Given the description of an element on the screen output the (x, y) to click on. 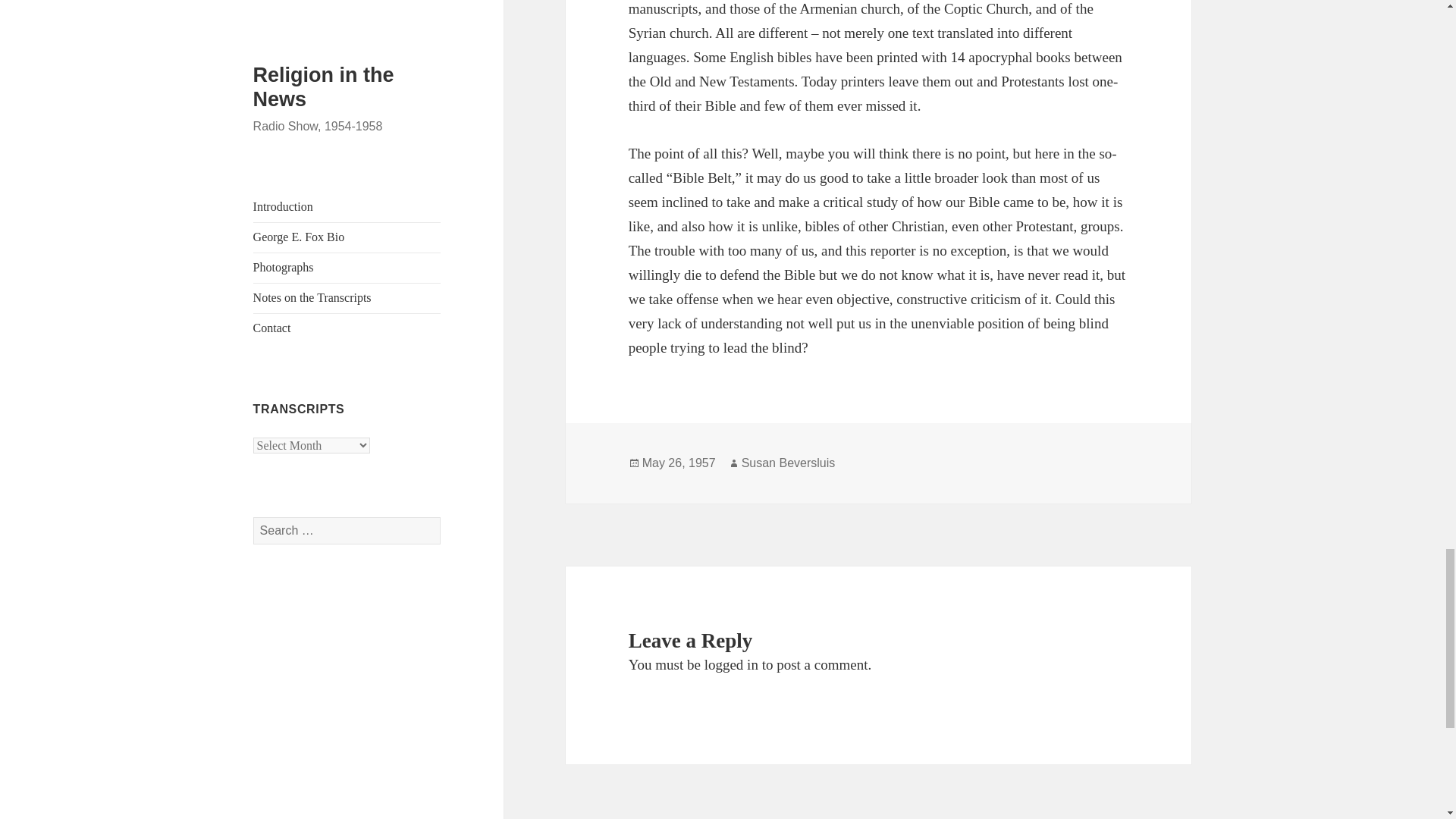
Susan Beversluis (788, 463)
logged in (731, 664)
May 26, 1957 (679, 463)
